Given the description of an element on the screen output the (x, y) to click on. 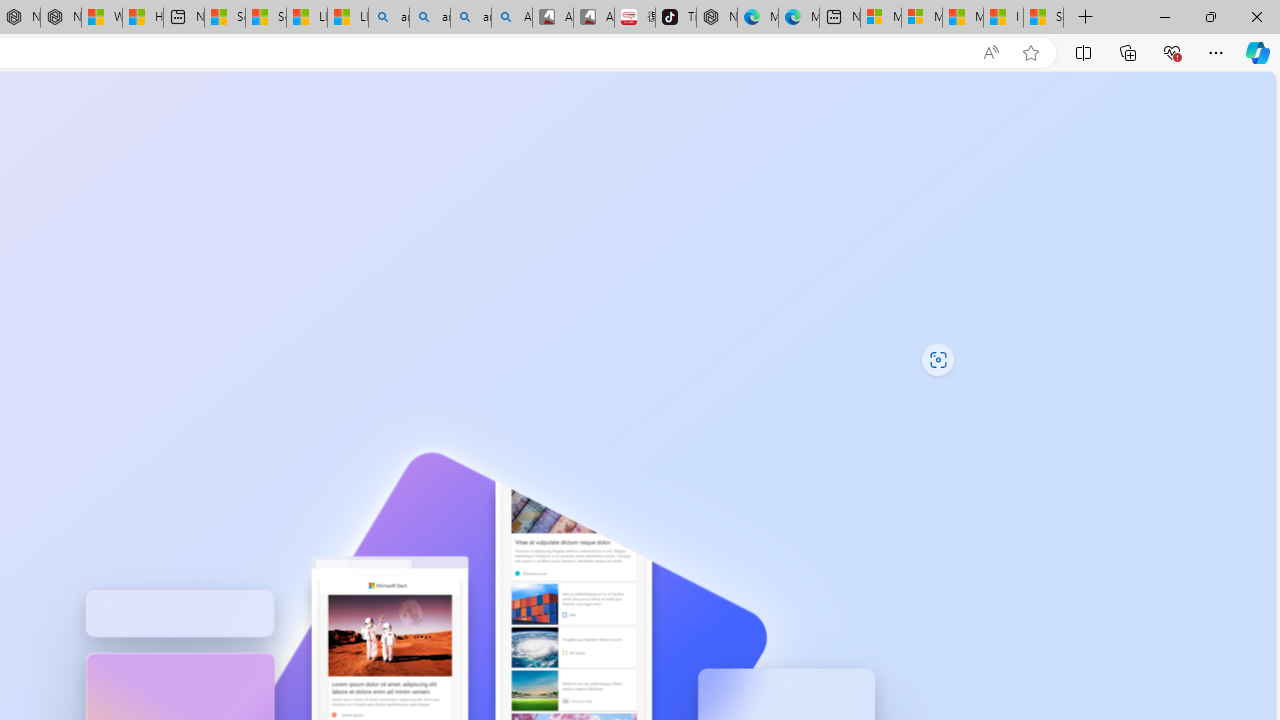
amazon - Search Images (470, 17)
All Cubot phones (593, 17)
Amazon Echo Robot - Search Images (511, 17)
amazon - Search (429, 17)
Microsoft Start (963, 17)
